Given the description of an element on the screen output the (x, y) to click on. 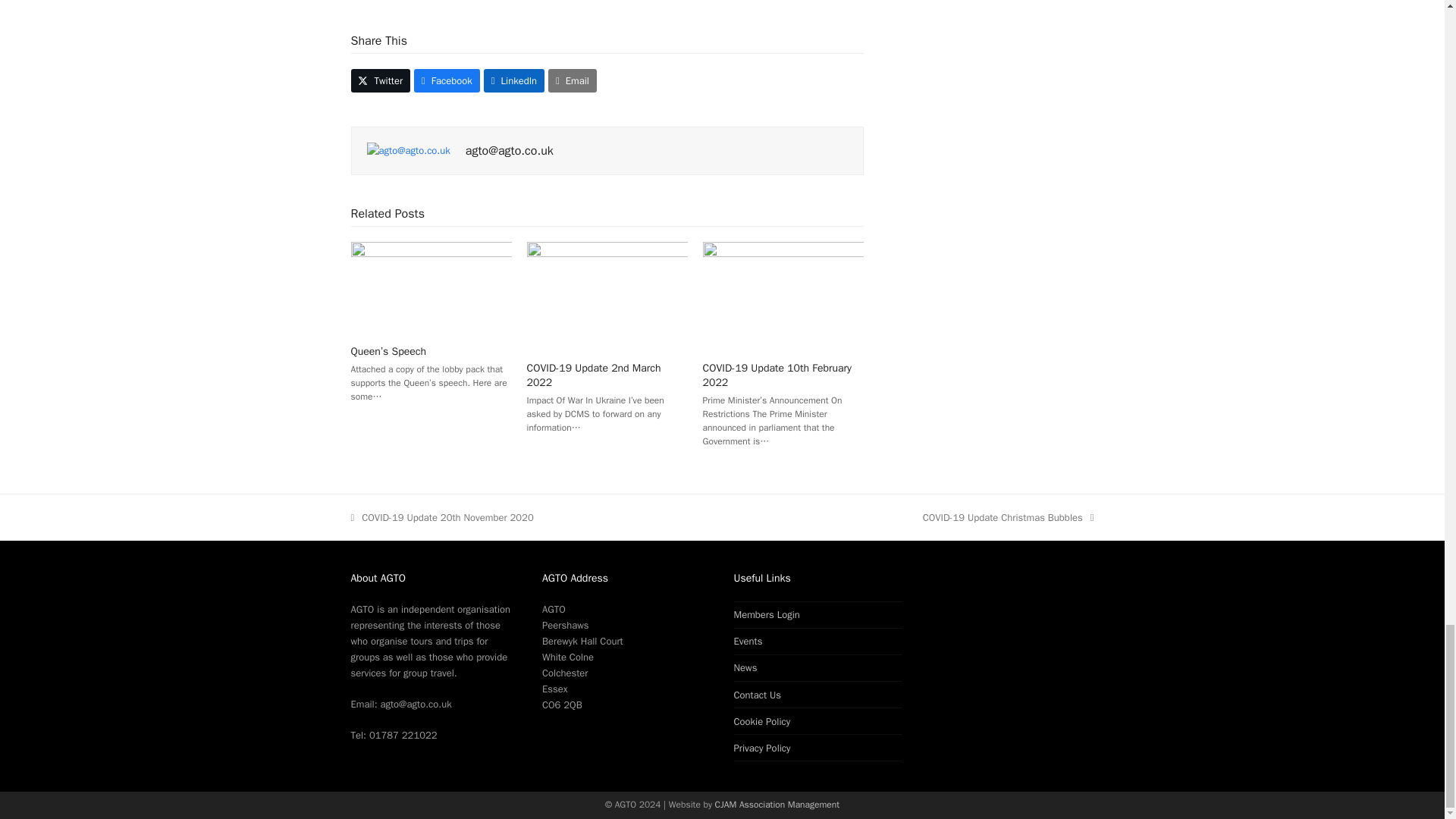
COVID-19 Update 2nd March 2022 (607, 294)
COVID-19 Update 10th February 2022 (783, 294)
Visit Author Page (407, 150)
Visit Author Page (509, 150)
